Given the description of an element on the screen output the (x, y) to click on. 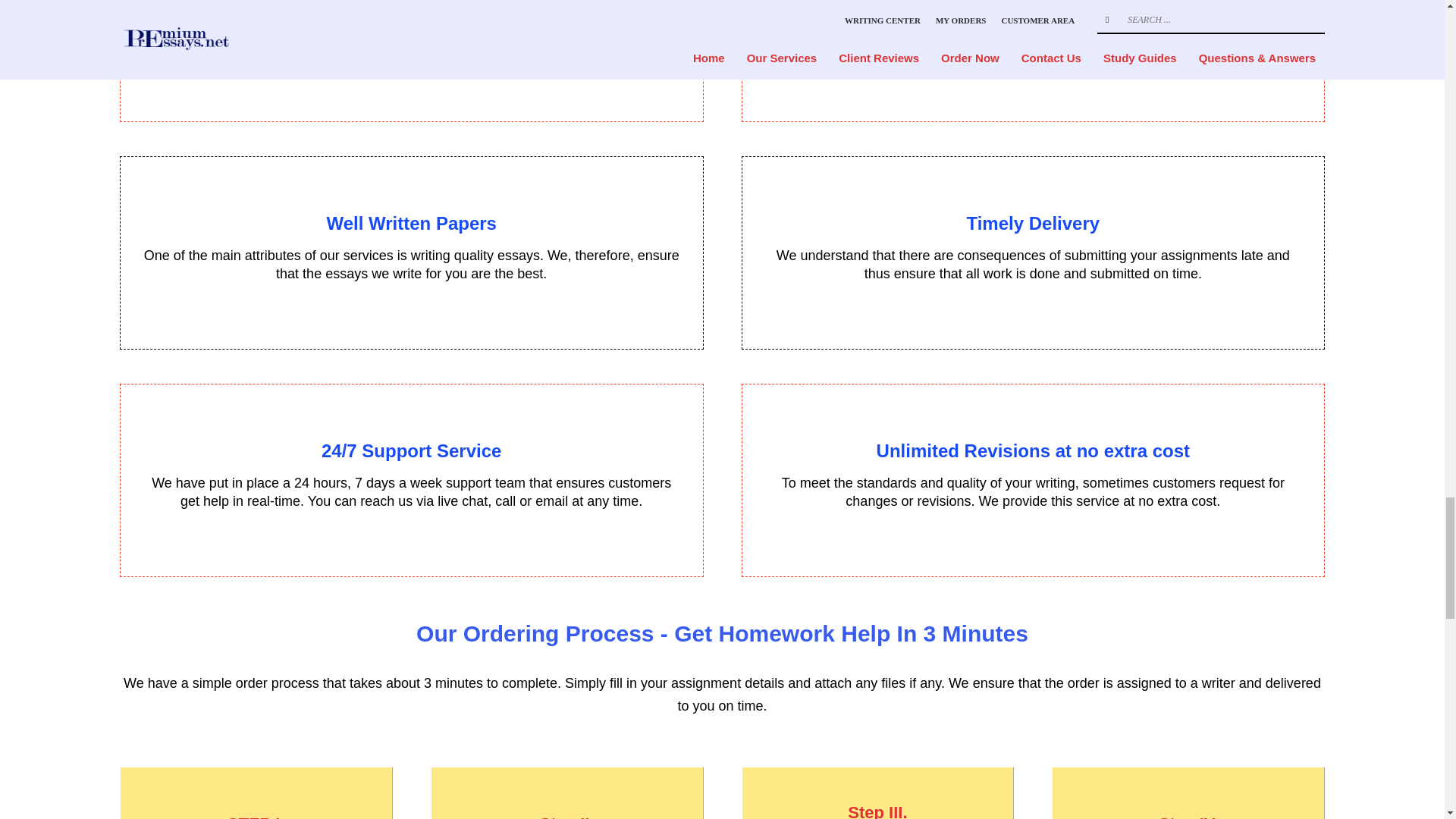
great thinking and interaction in order to provide solutions (861, 535)
